Given the description of an element on the screen output the (x, y) to click on. 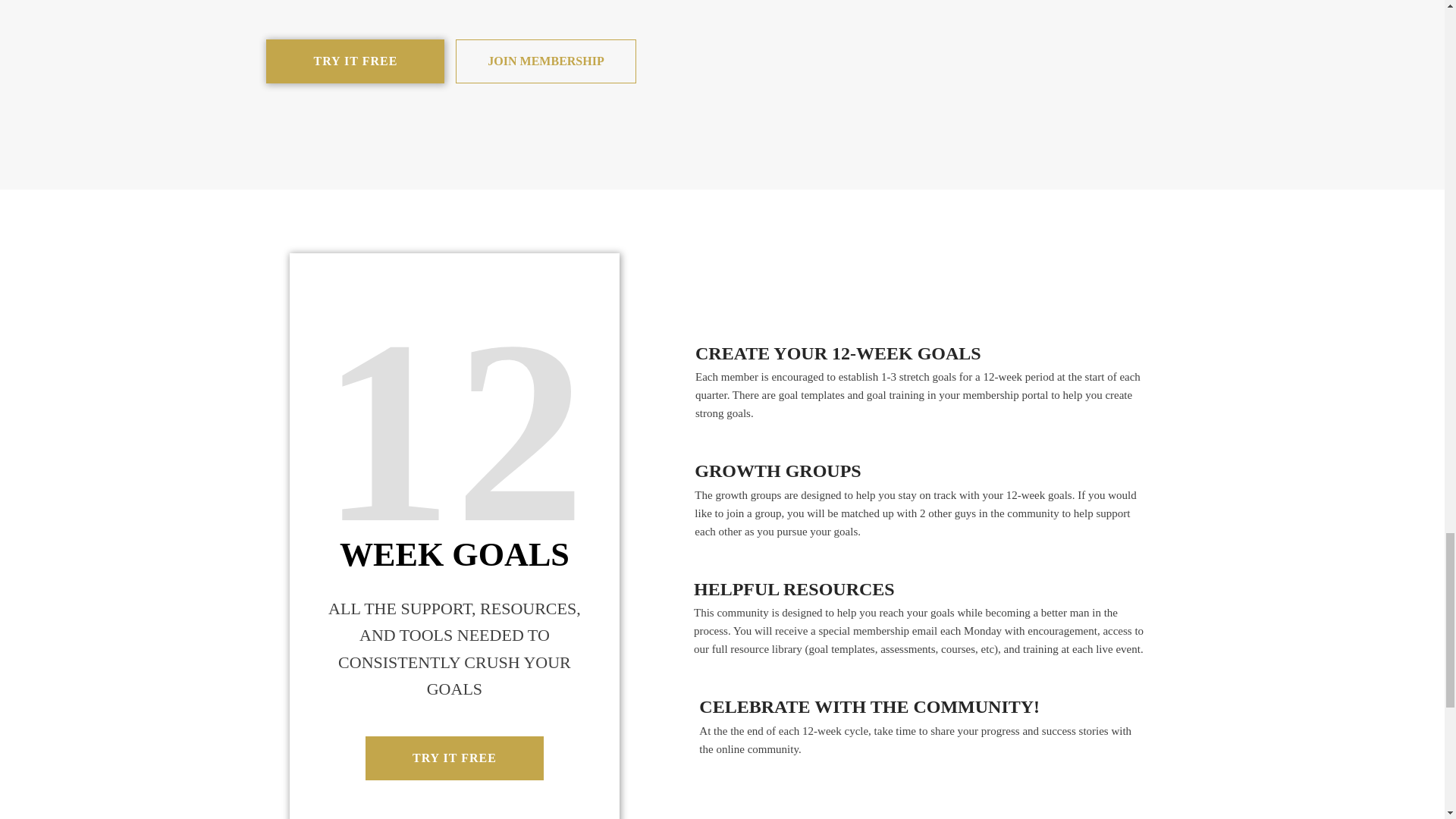
TRY IT FREE (454, 758)
TRY IT FREE (355, 61)
JOIN MEMBERSHIP (544, 61)
